Given the description of an element on the screen output the (x, y) to click on. 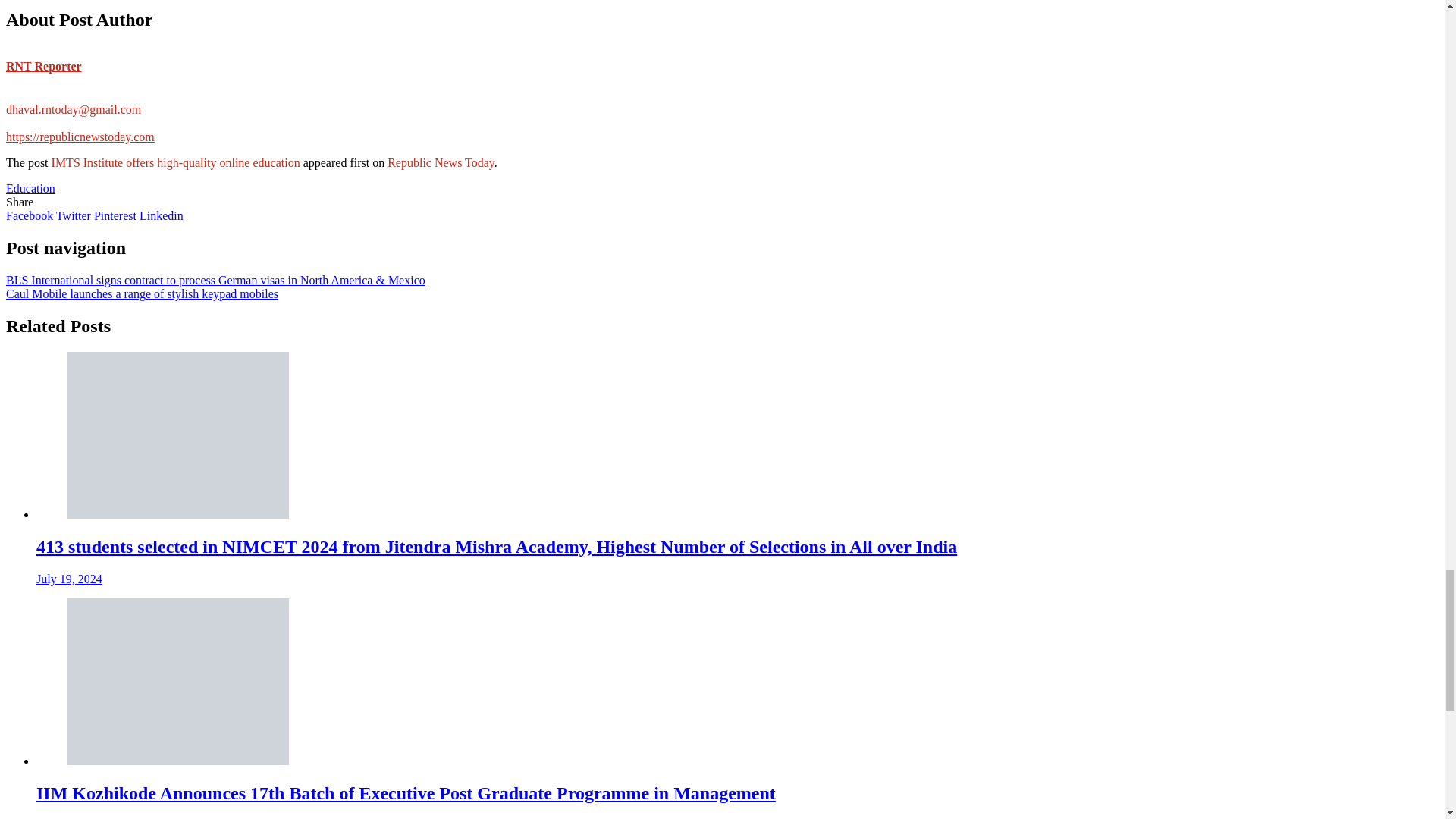
Education (30, 187)
Republic News Today (441, 162)
Twitter (75, 215)
RNT Reporter (43, 72)
IMTS Institute offers high-quality online education (174, 162)
Facebook (30, 215)
